Given the description of an element on the screen output the (x, y) to click on. 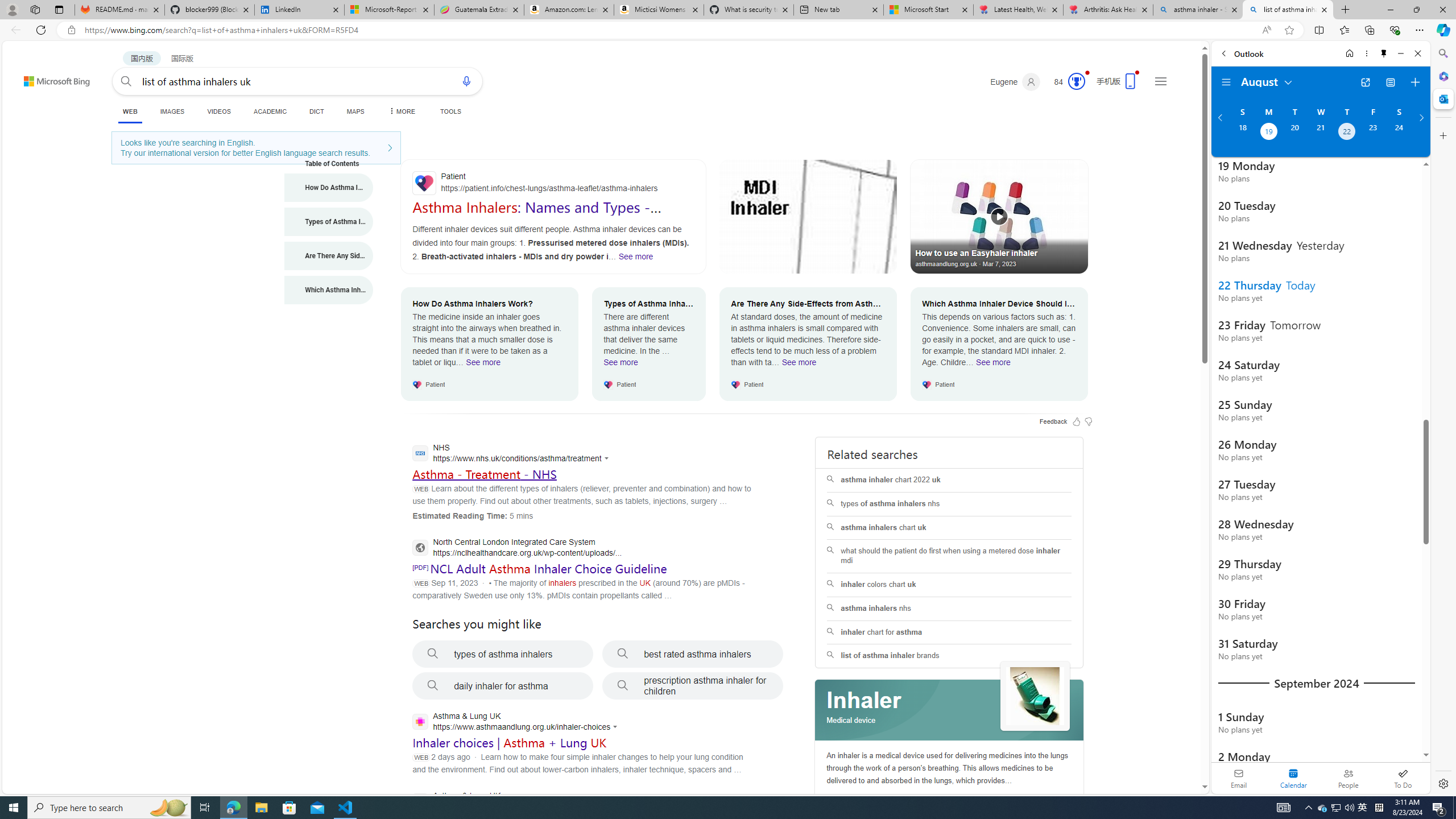
Actions for this site (617, 726)
Microsoft Rewards 84 (1065, 81)
TOOLS (450, 111)
MORE (400, 111)
How to use an Easyhaler inhaler (999, 216)
Saturday, August 24, 2024.  (1399, 132)
To Do (1402, 777)
inhaler chart for asthma (949, 632)
